Given the description of an element on the screen output the (x, y) to click on. 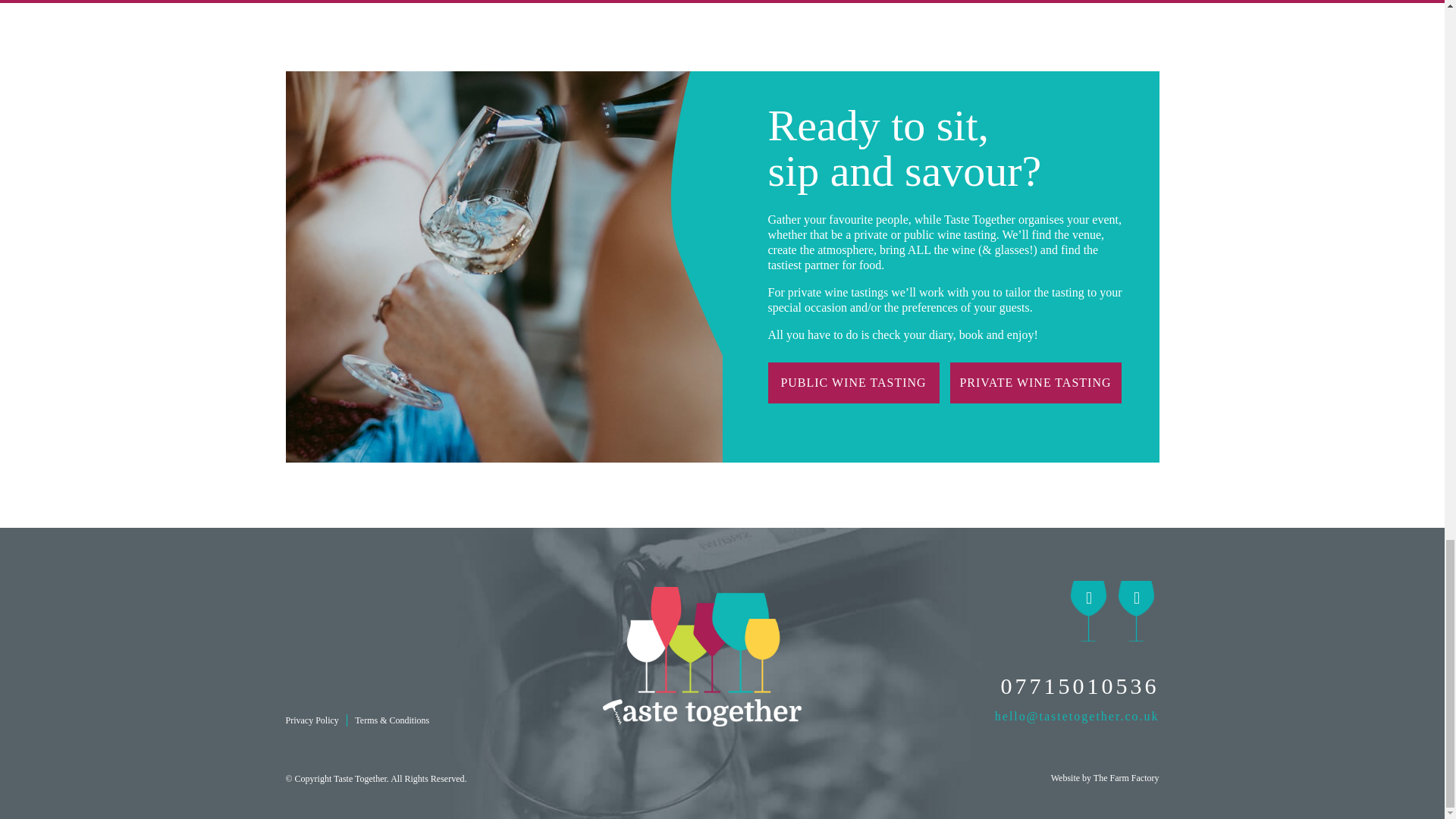
PRIVATE WINE TASTING (1035, 382)
PUBLIC WINE TASTING (853, 382)
The Farm Factory (1125, 777)
07715010536 (1039, 685)
Privacy Policy (311, 719)
